Given the description of an element on the screen output the (x, y) to click on. 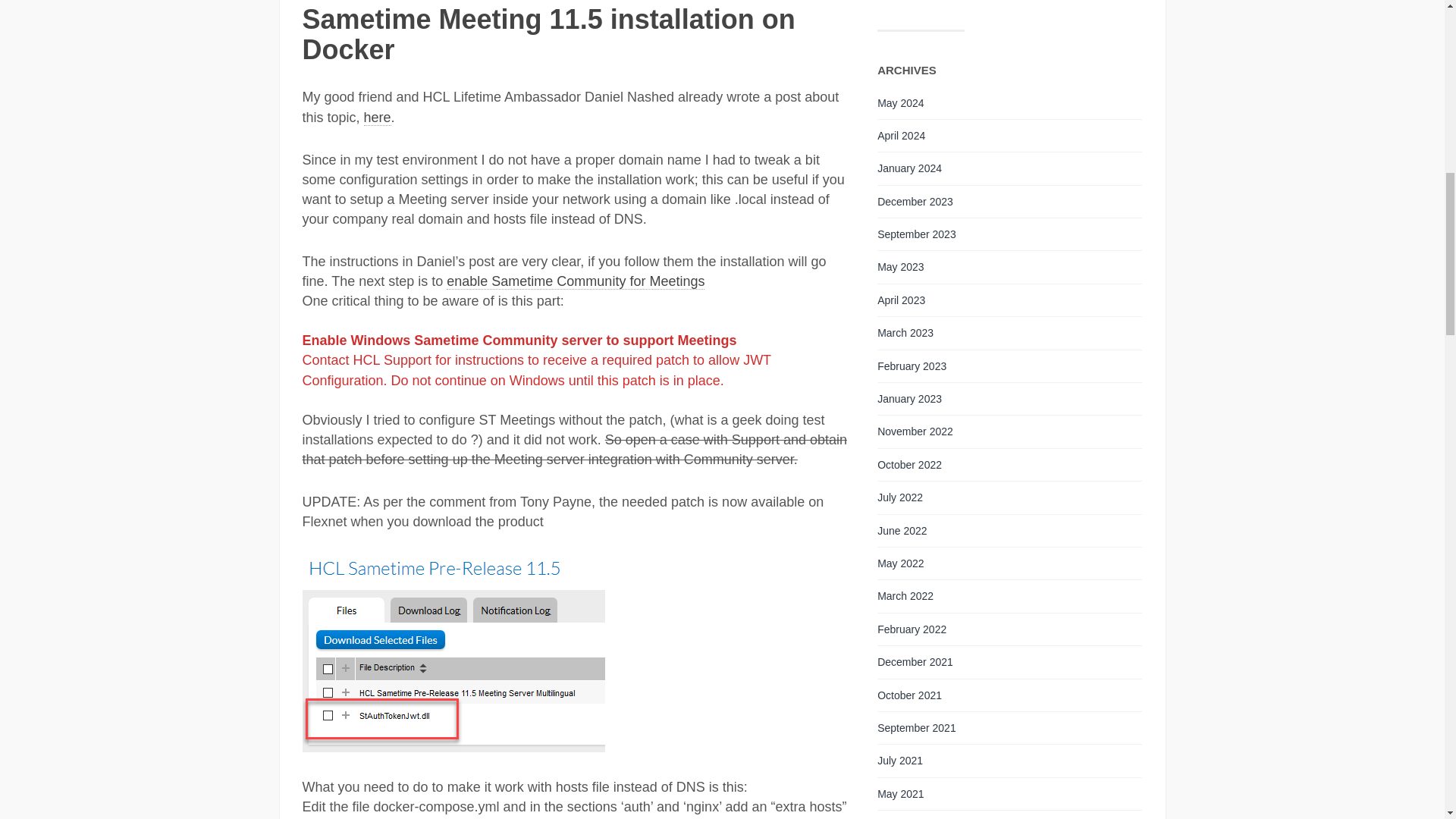
May 2023 (900, 266)
October 2022 (909, 464)
June 2022 (901, 530)
April 2023 (900, 300)
March 2023 (905, 332)
January 2023 (909, 398)
enable Sametime Community for Meetings (575, 281)
November 2022 (915, 431)
May 2024 (900, 102)
Sametime Meeting 11.5 installation on Docker (547, 34)
here (377, 117)
July 2022 (900, 497)
April 2024 (900, 135)
December 2023 (915, 201)
February 2023 (911, 366)
